Given the description of an element on the screen output the (x, y) to click on. 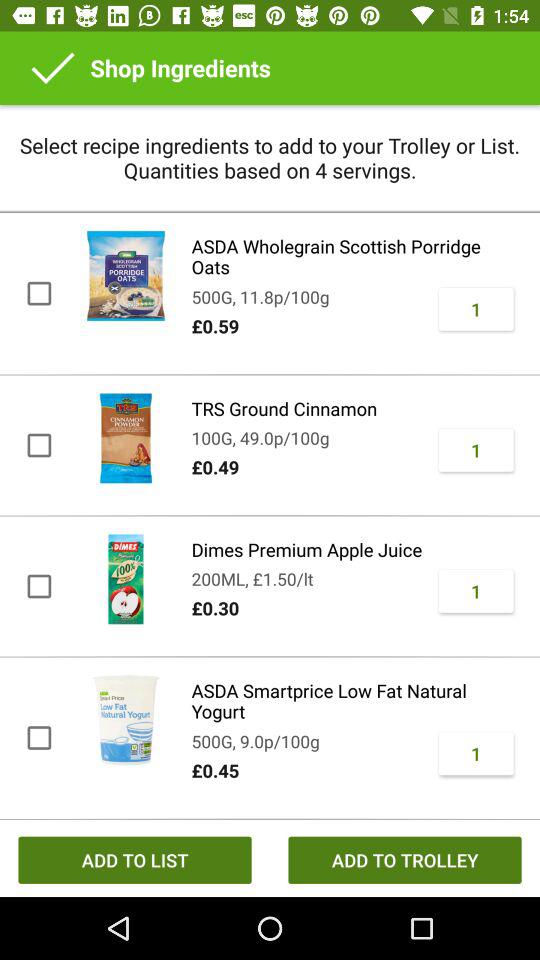
tap icon next to shop ingredients item (53, 68)
